Given the description of an element on the screen output the (x, y) to click on. 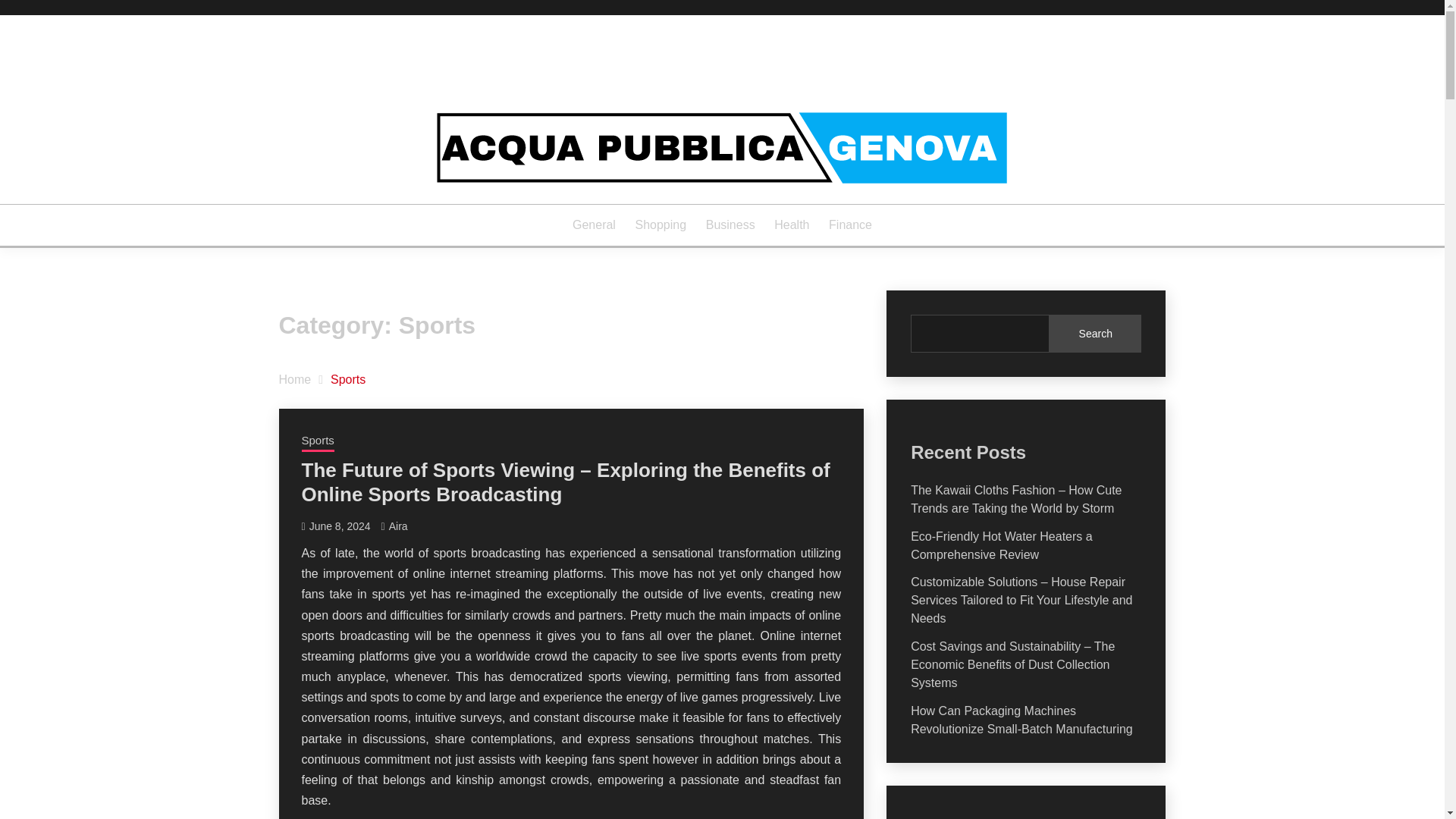
General (593, 225)
Shopping (660, 225)
Sports (317, 442)
Sports (347, 379)
Health (791, 225)
ACQUA PUBBLICA GENOVA (468, 293)
Finance (850, 225)
Home (295, 379)
Aira (397, 526)
June 8, 2024 (339, 526)
Business (730, 225)
